Given the description of an element on the screen output the (x, y) to click on. 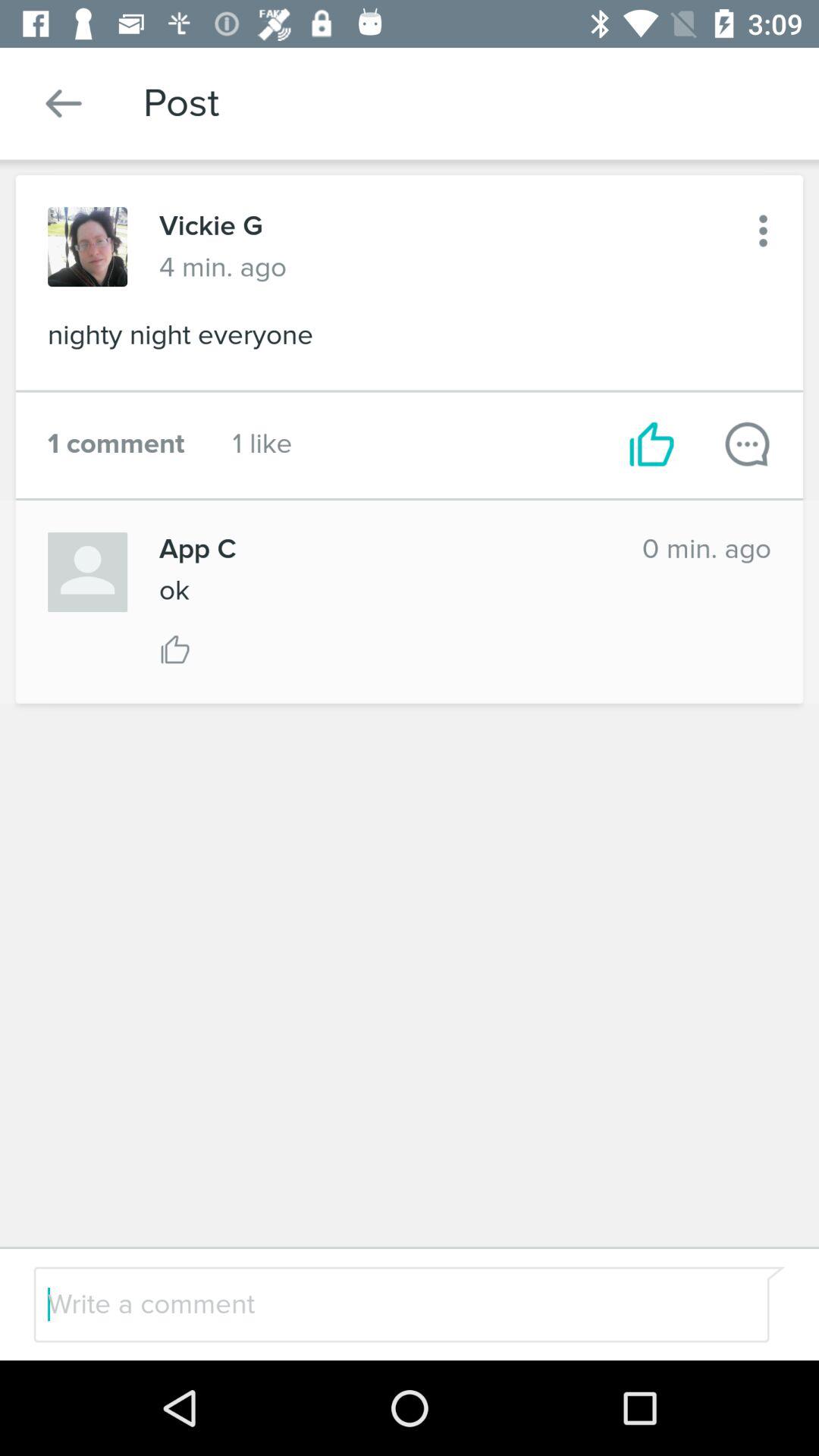
click on text 1 like (262, 443)
